Given the description of an element on the screen output the (x, y) to click on. 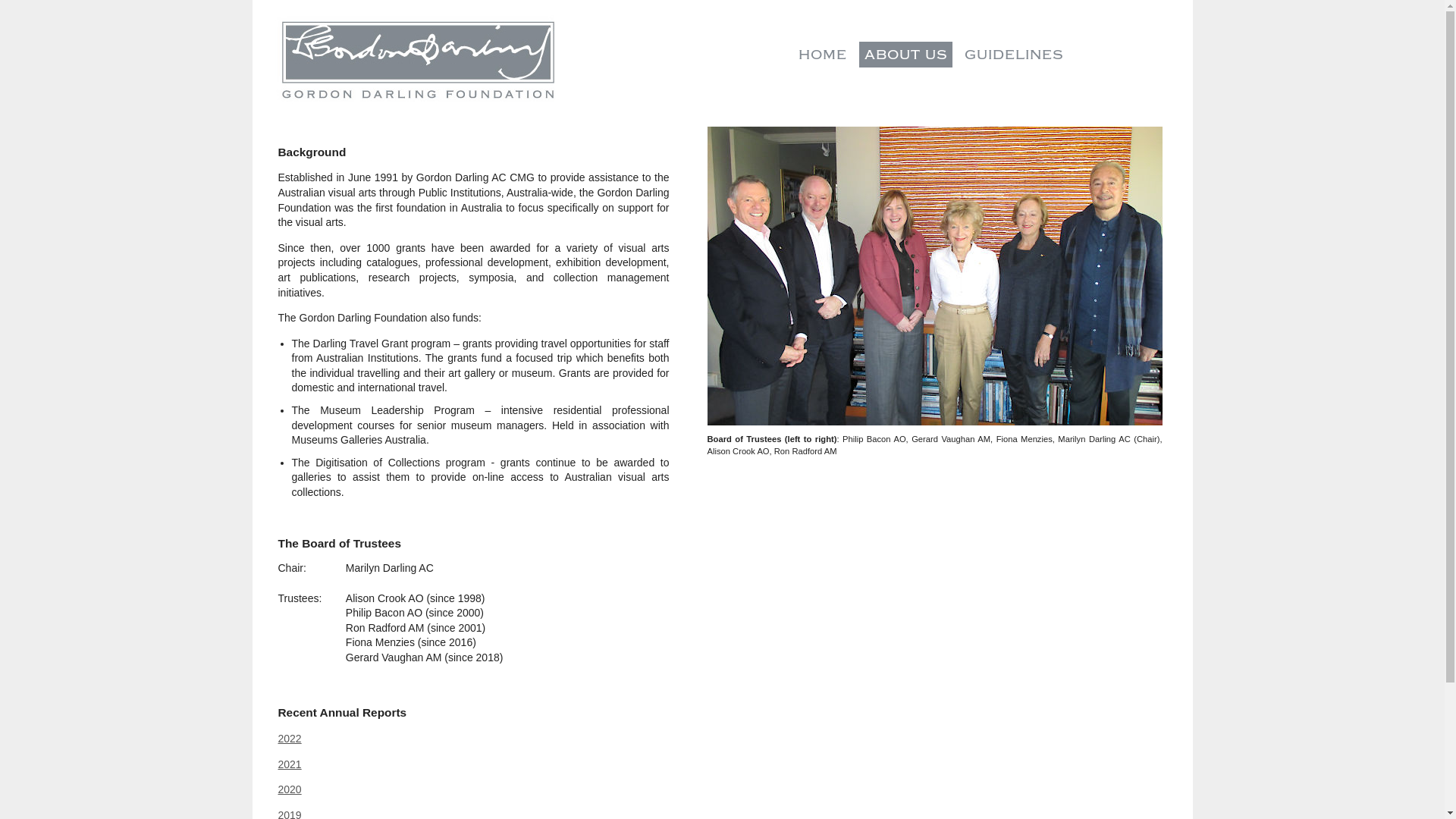
GUIDELINES Element type: text (1014, 54)
HOME Element type: text (822, 54)
2021 Element type: text (289, 764)
2020 Element type: text (289, 789)
2022 Element type: text (289, 738)
ABOUT US Element type: text (905, 54)
